Given the description of an element on the screen output the (x, y) to click on. 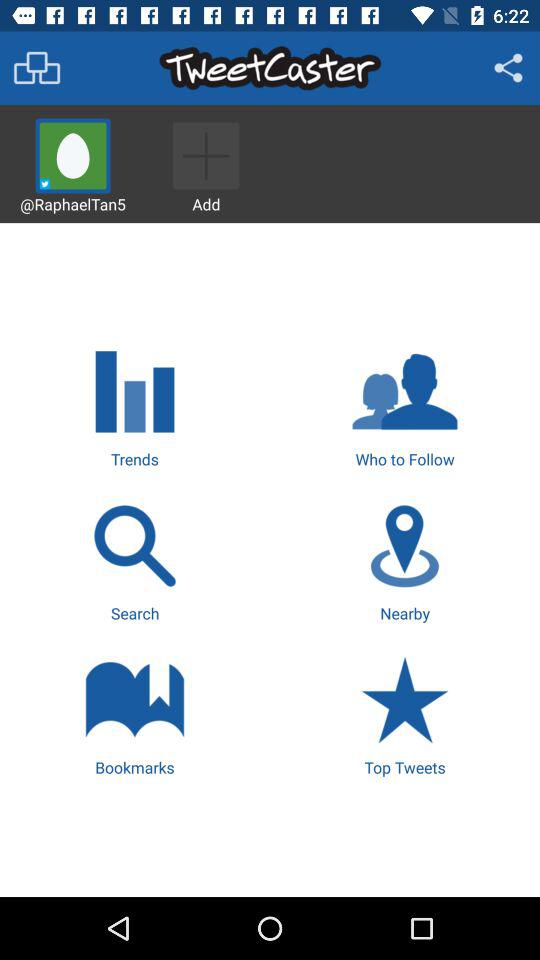
scroll until the nearby (404, 559)
